Given the description of an element on the screen output the (x, y) to click on. 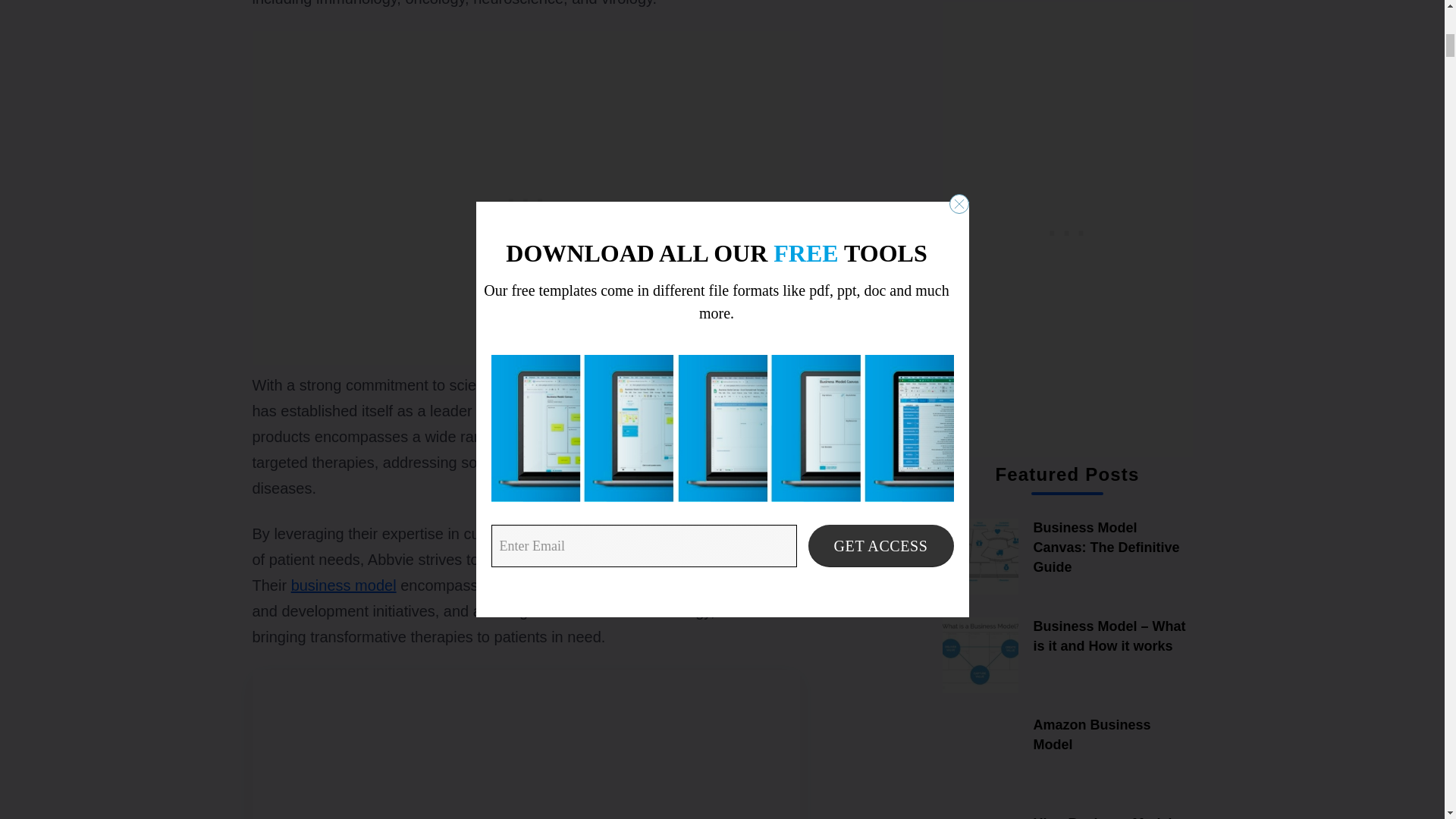
business model (343, 585)
Abbvie (756, 384)
